Given the description of an element on the screen output the (x, y) to click on. 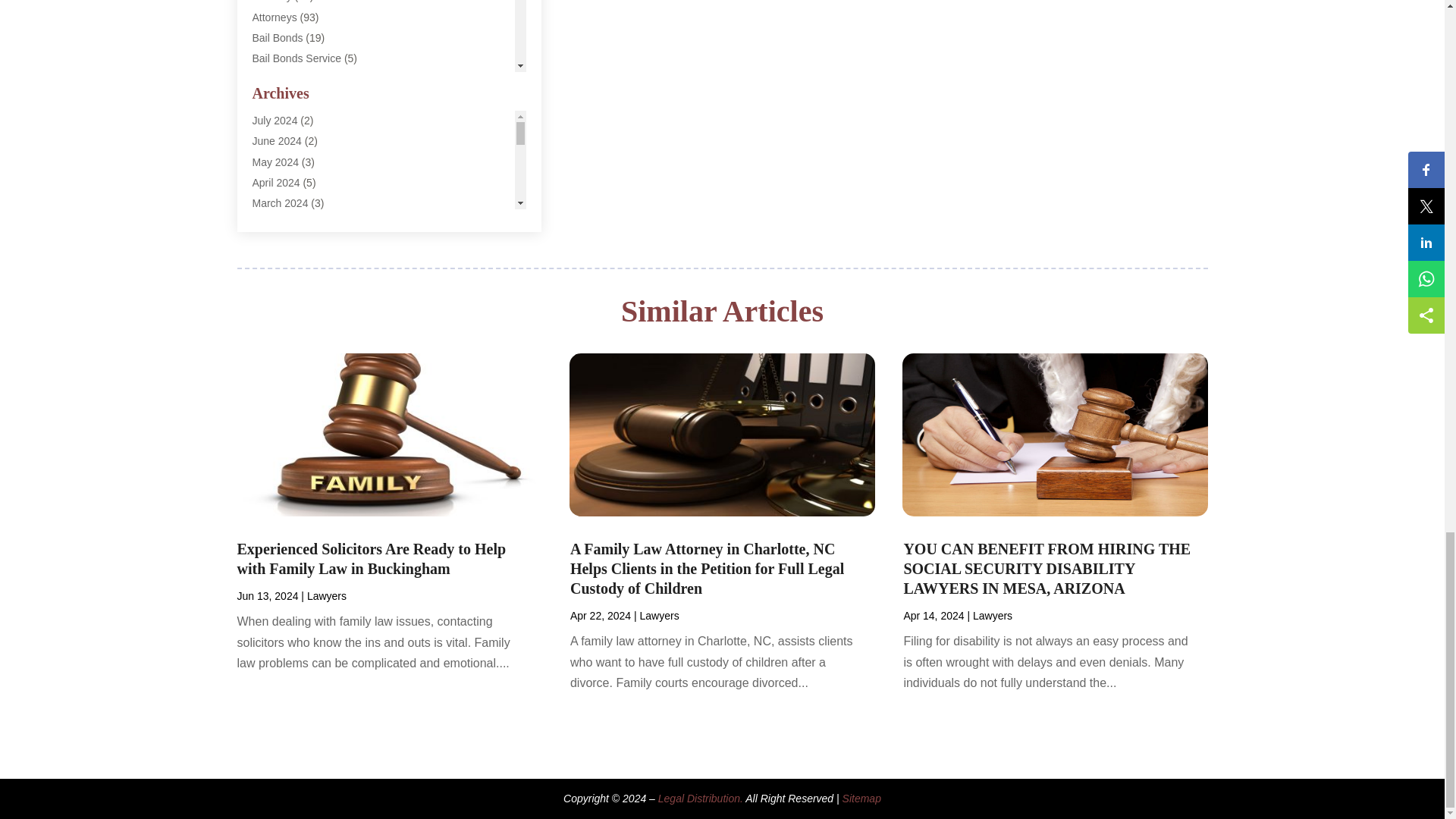
Criminal Defense Lawyer (310, 161)
Child Custody (284, 120)
Bankruptcy (277, 78)
Bail Bonds (276, 37)
Disabilities Law Services (309, 202)
Criminal Lawyer (289, 182)
Bedsore Attorney (292, 99)
Bail Bonds Service (295, 58)
Criminal Defense (292, 141)
Attorneys (274, 17)
Attorney (271, 1)
